Given the description of an element on the screen output the (x, y) to click on. 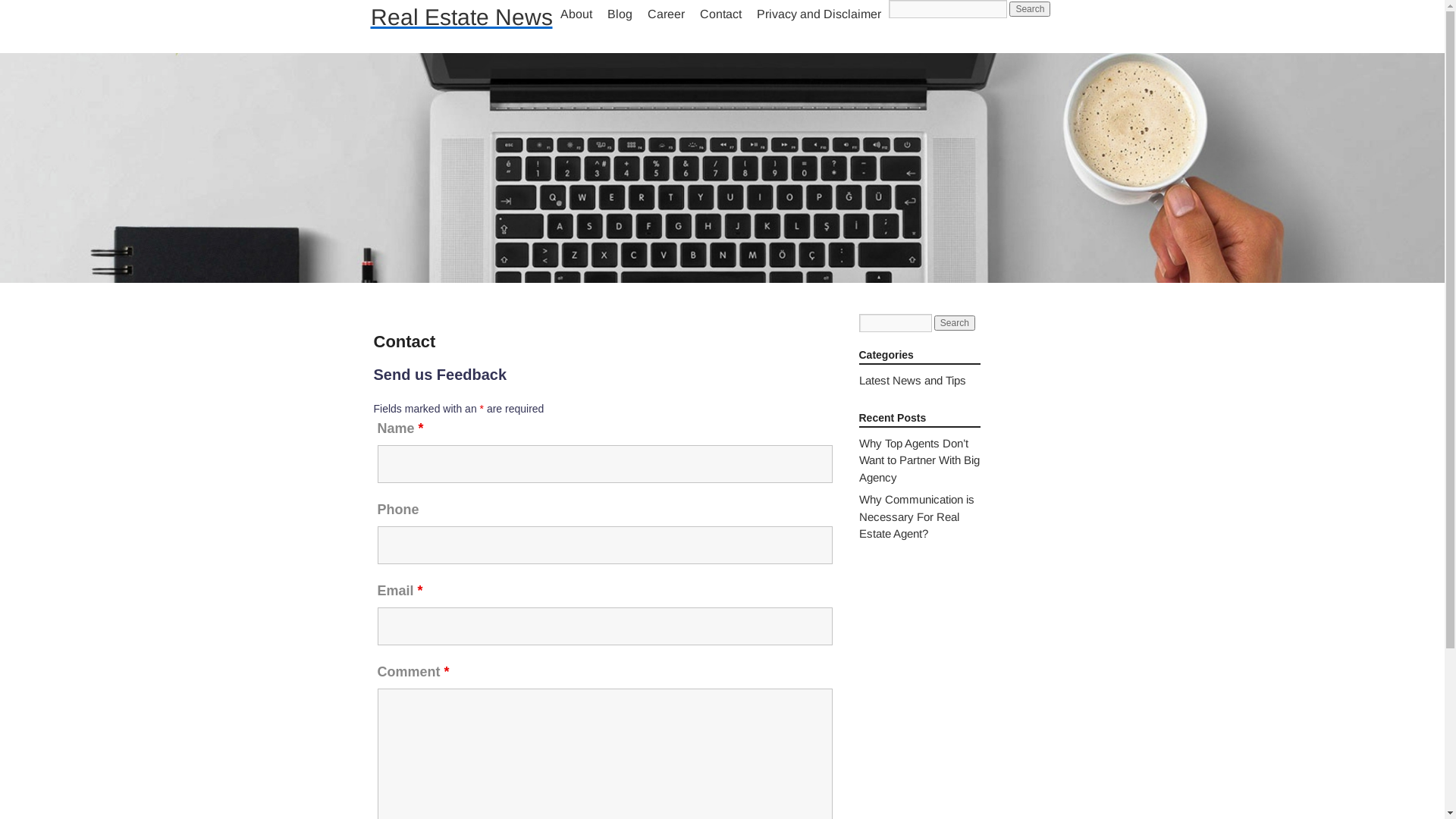
Contact Element type: text (719, 14)
Search Element type: text (1029, 8)
Latest News and Tips Element type: text (911, 379)
Real Estate News Element type: text (461, 16)
Why Communication is Necessary For Real Estate Agent? Element type: text (915, 515)
Career Element type: text (666, 14)
Search Element type: text (954, 322)
Blog Element type: text (619, 14)
About Element type: text (575, 14)
Privacy and Disclaimer Element type: text (818, 14)
